Given the description of an element on the screen output the (x, y) to click on. 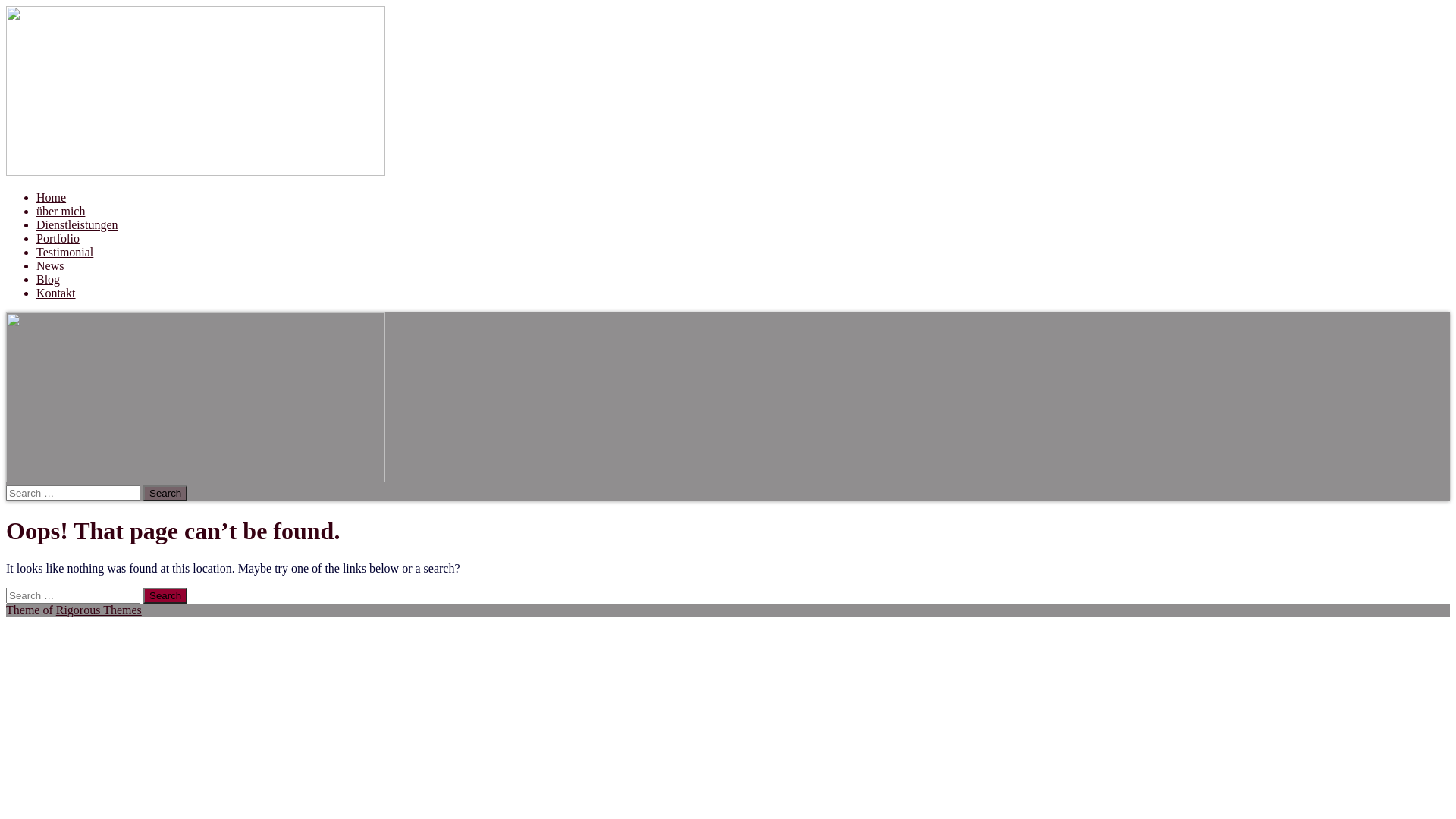
Search Element type: text (165, 595)
Search Element type: text (165, 493)
Dienstleistungen Element type: text (77, 224)
Blog Element type: text (47, 279)
Skip to content Element type: text (5, 5)
News Element type: text (49, 265)
Portfolio Element type: text (57, 238)
Kontakt Element type: text (55, 292)
Home Element type: text (50, 197)
Testimonial Element type: text (64, 251)
Rigorous Themes Element type: text (98, 609)
